Given the description of an element on the screen output the (x, y) to click on. 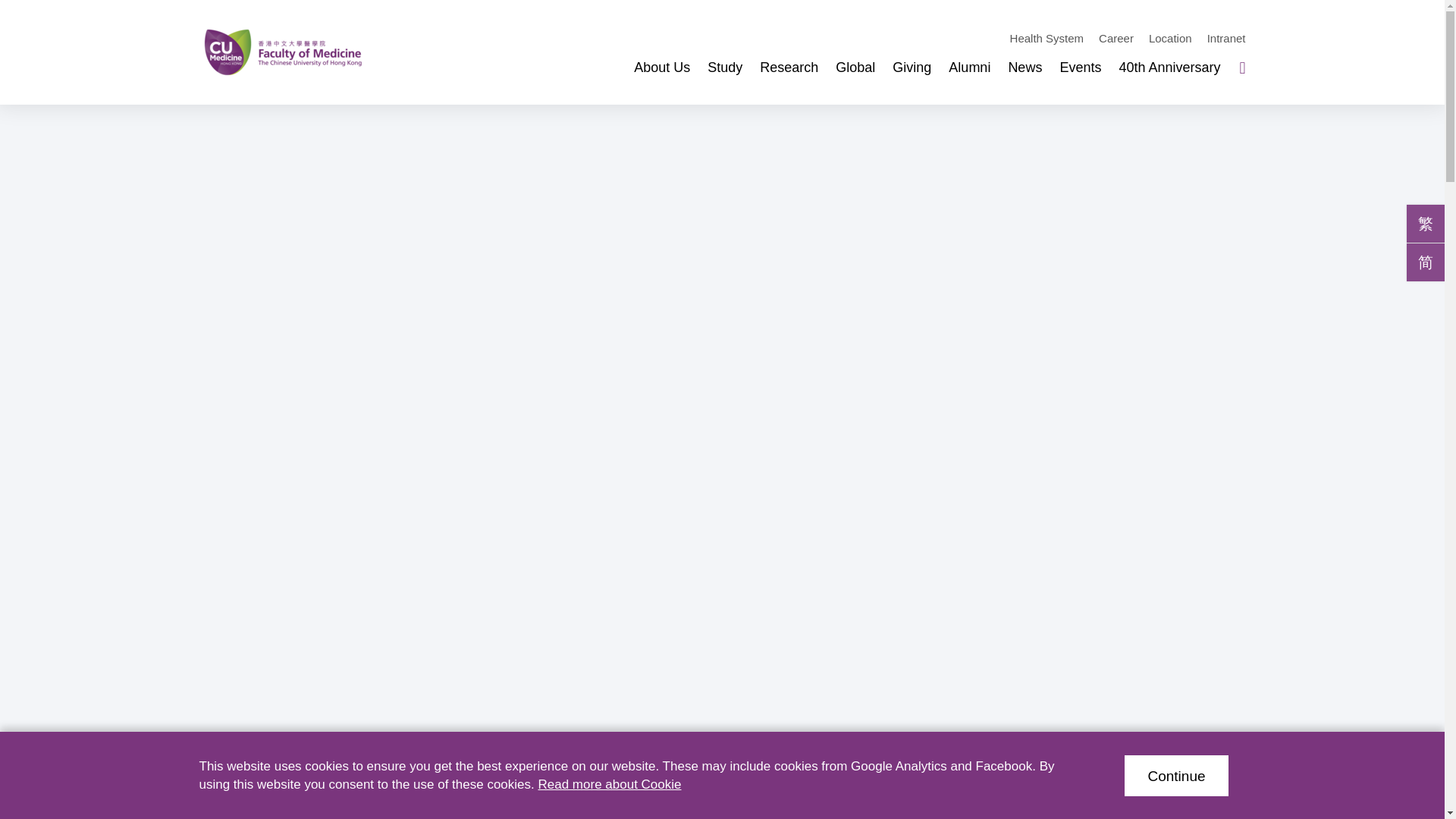
Career (1116, 37)
Location (1170, 37)
Health System (1047, 37)
About Us (661, 67)
Study (724, 67)
Intranet (1226, 37)
